Given the description of an element on the screen output the (x, y) to click on. 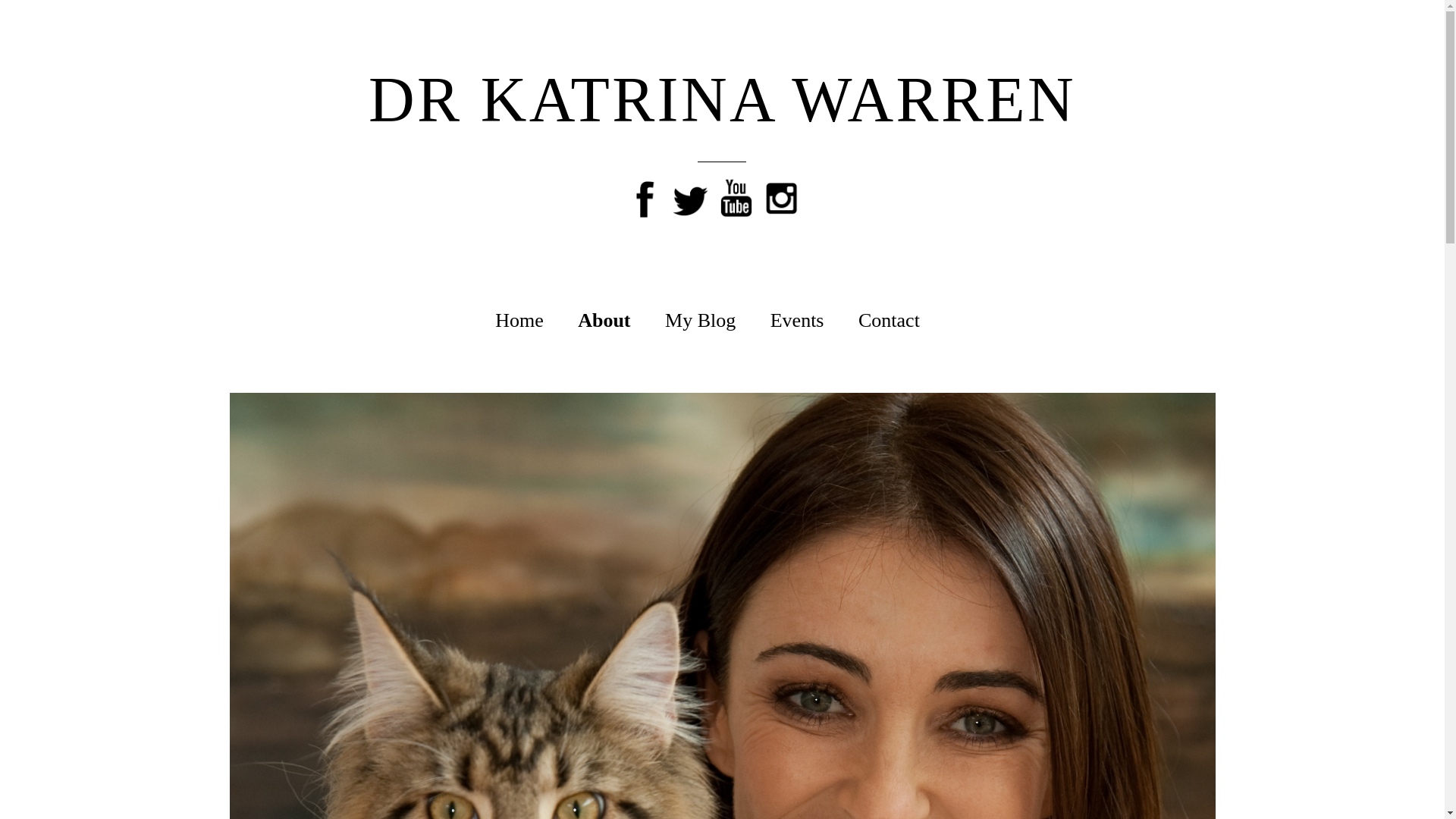
YouTube Element type: hover (736, 193)
Contact Element type: text (888, 320)
About Element type: text (603, 320)
Twitter Element type: hover (690, 193)
Facebook Element type: hover (645, 193)
DR KATRINA WARREN Element type: text (722, 99)
Home Element type: text (519, 320)
Instagram Element type: hover (781, 193)
Events Element type: text (797, 320)
My Blog Element type: text (700, 320)
